Given the description of an element on the screen output the (x, y) to click on. 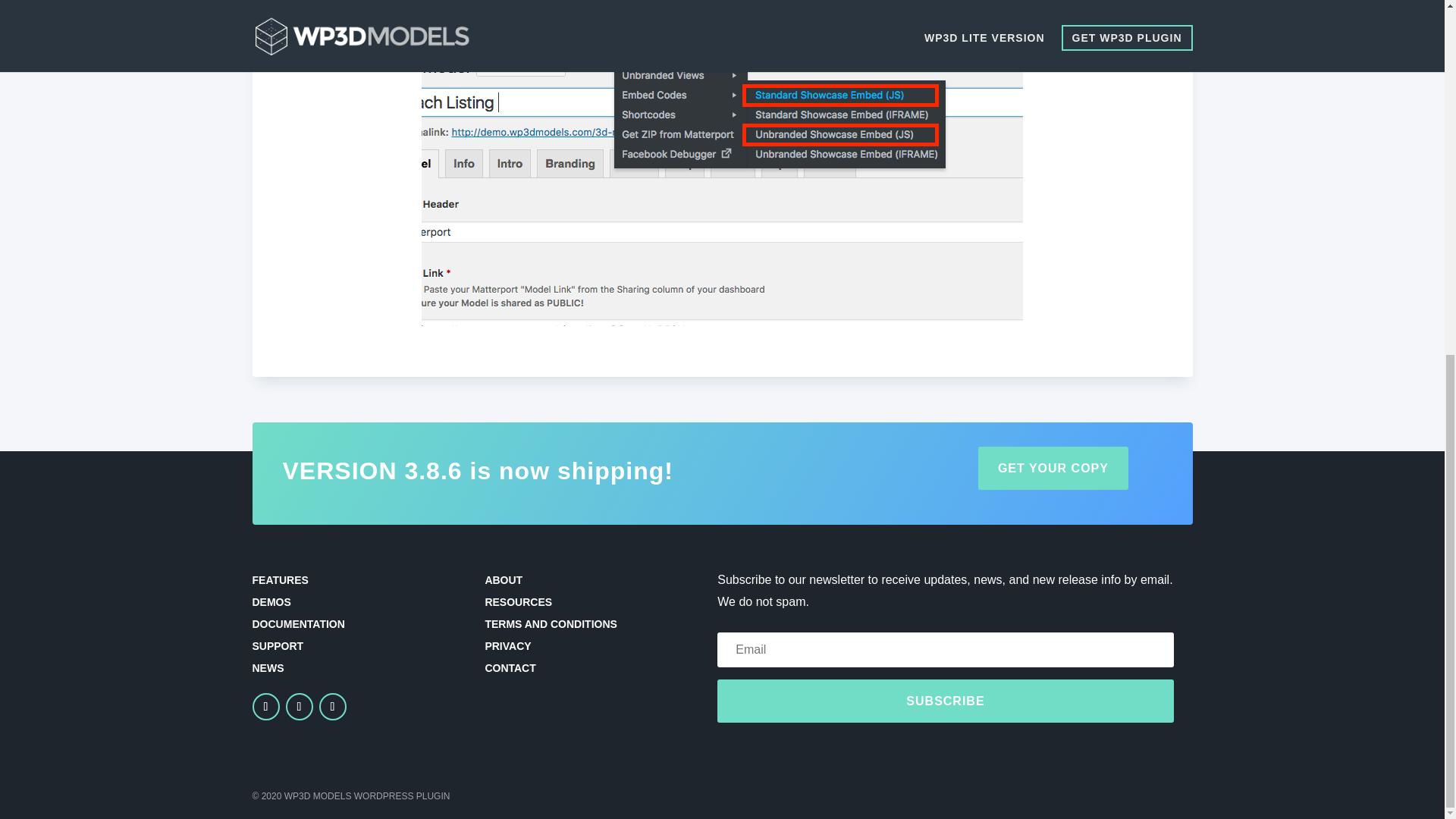
ABOUT (503, 580)
DOCUMENTATION (297, 623)
RESOURCES (517, 602)
Follow on Youtube (332, 706)
NEWS (267, 667)
SUPPORT (276, 645)
FEATURES (279, 580)
GET YOUR COPY (1053, 467)
TERMS AND CONDITIONS (549, 623)
Follow on Facebook (265, 706)
